Given the description of an element on the screen output the (x, y) to click on. 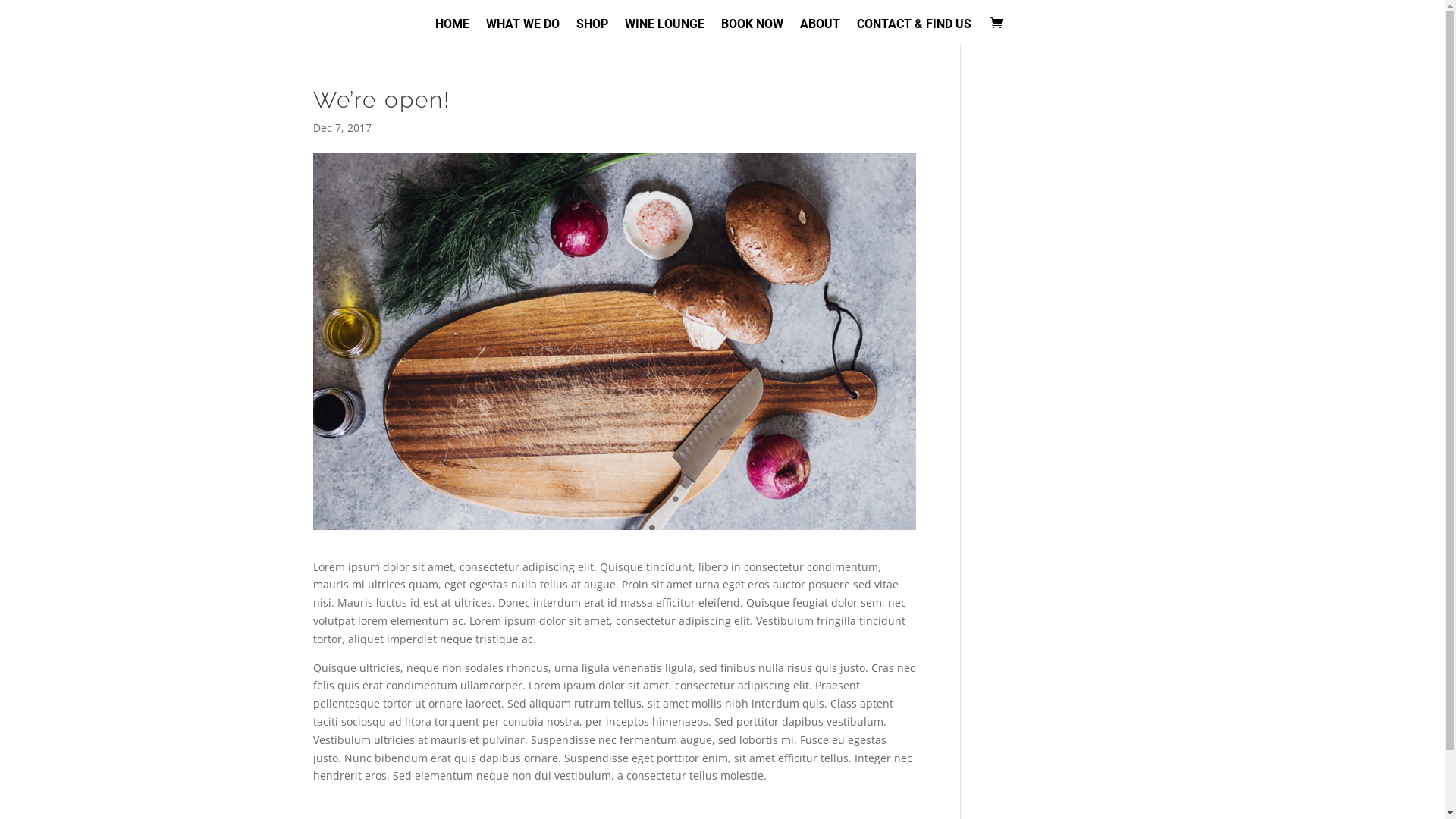
WHAT WE DO Element type: text (521, 31)
SHOP Element type: text (592, 31)
HOME Element type: text (452, 31)
ABOUT Element type: text (819, 31)
WINE LOUNGE Element type: text (664, 31)
BOOK NOW Element type: text (751, 31)
CONTACT & FIND US Element type: text (913, 31)
